Given the description of an element on the screen output the (x, y) to click on. 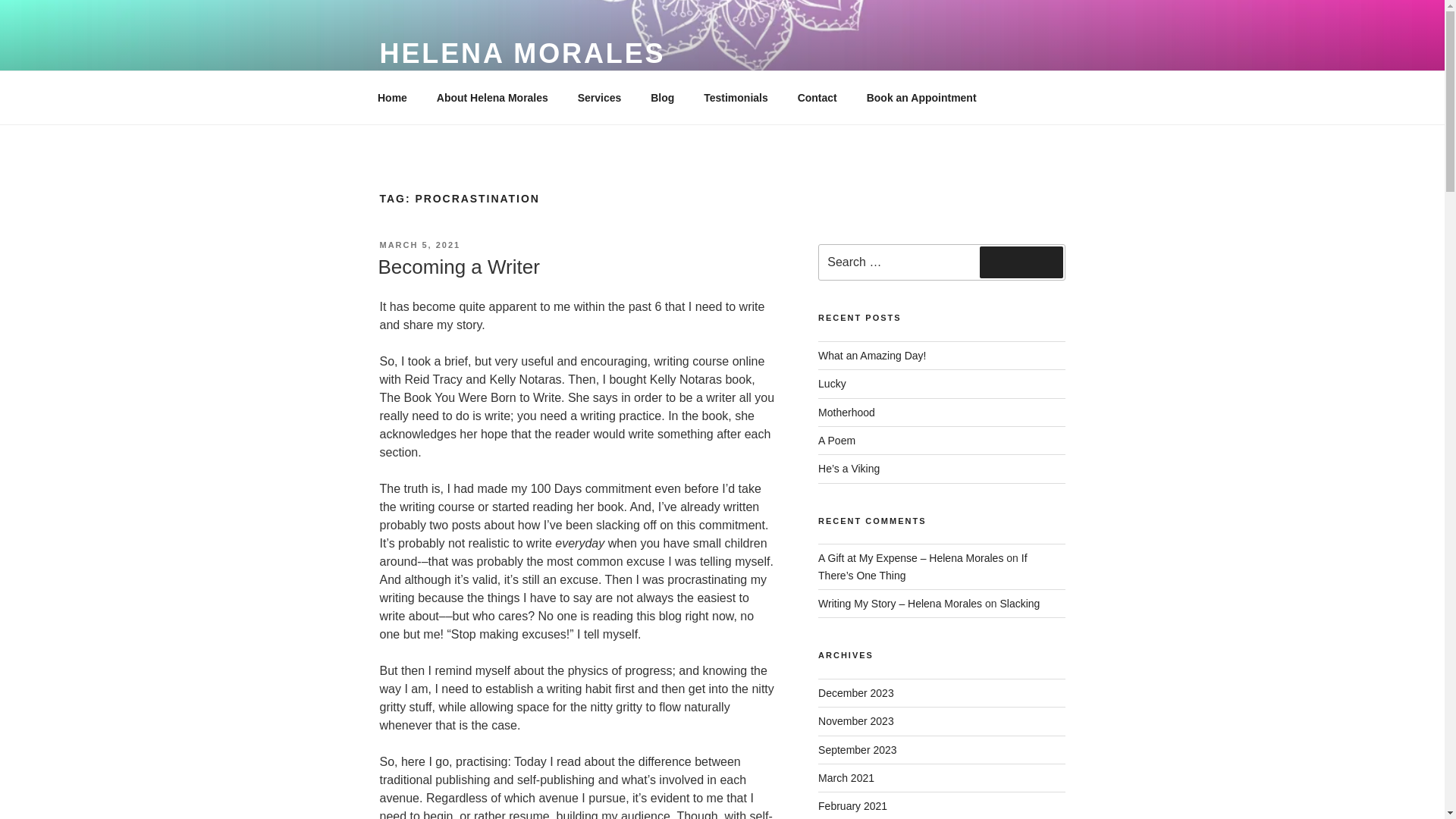
A Poem (837, 440)
November 2023 (855, 720)
Slacking (1018, 603)
Becoming a Writer (457, 266)
MARCH 5, 2021 (419, 244)
What an Amazing Day! (872, 355)
February 2021 (852, 806)
About Helena Morales (491, 97)
Search (1020, 262)
March 2021 (846, 777)
